Given the description of an element on the screen output the (x, y) to click on. 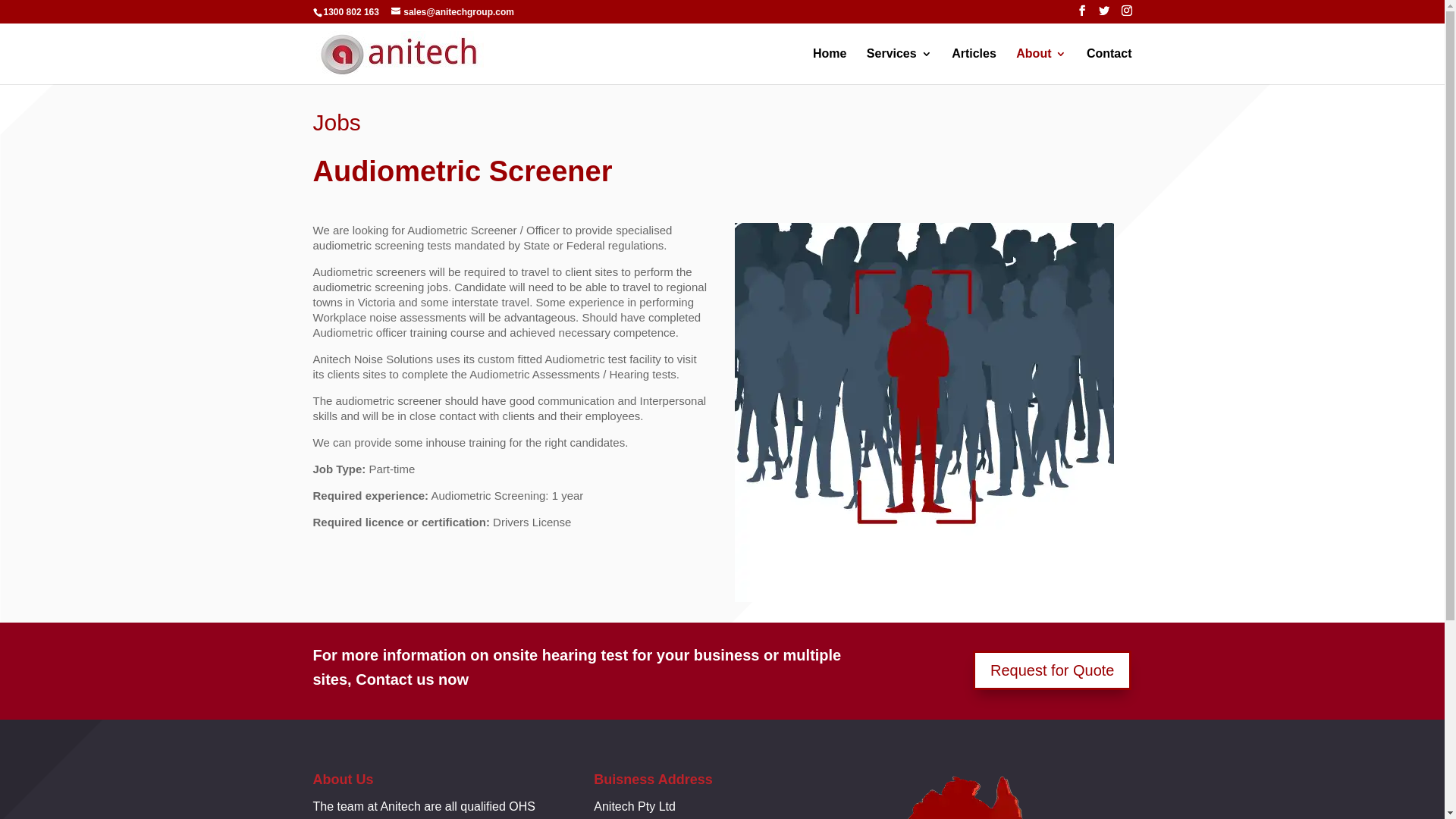
Services Element type: text (898, 66)
Contact Element type: text (1109, 66)
Home Element type: text (829, 66)
Request for Quote Element type: text (1051, 670)
Articles Element type: text (973, 66)
1300 802 163 Element type: text (350, 11)
About Element type: text (1041, 66)
sales@anitechgroup.com Element type: text (452, 11)
